Given the description of an element on the screen output the (x, y) to click on. 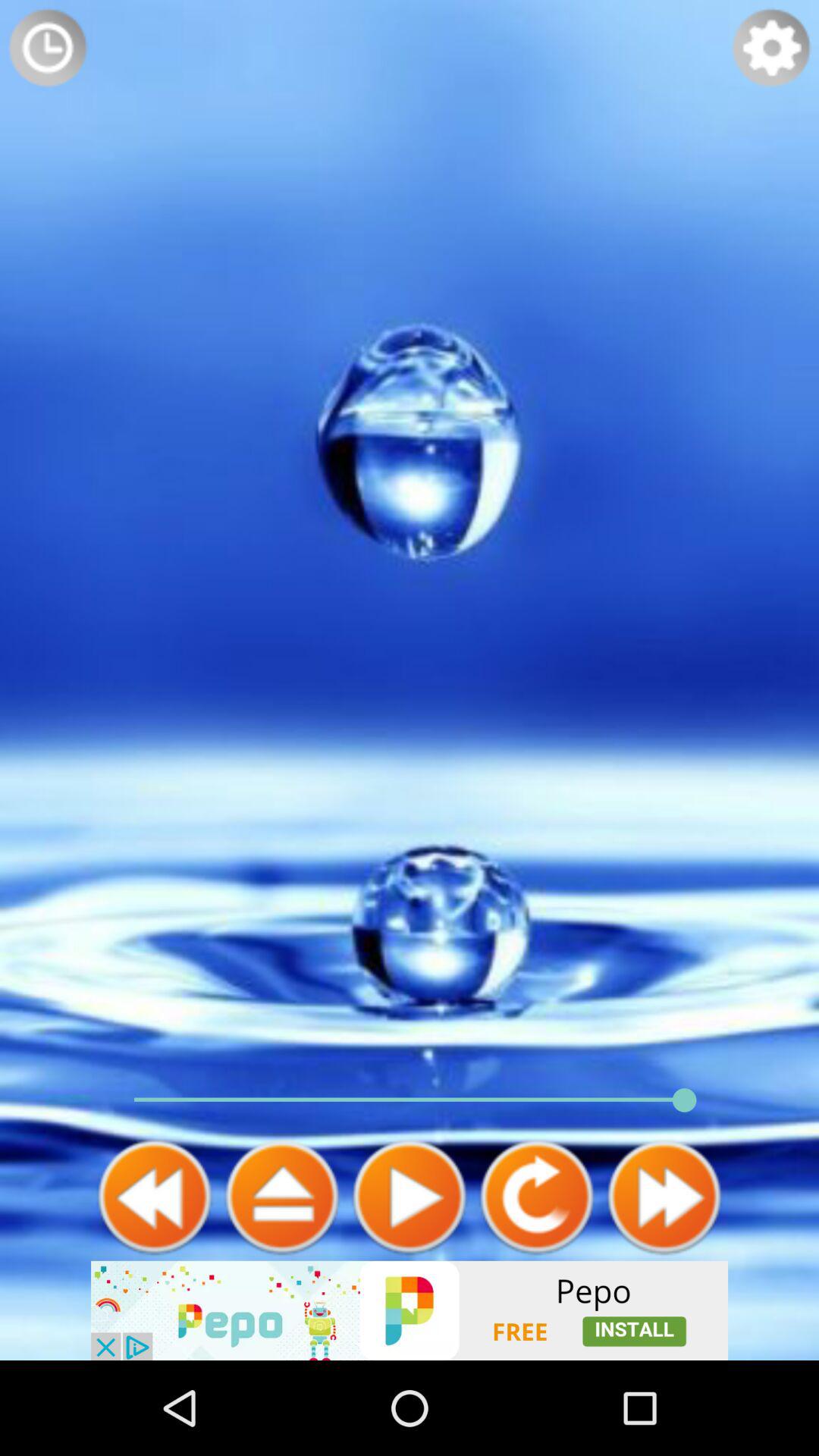
toggle to play the video (409, 1196)
